Given the description of an element on the screen output the (x, y) to click on. 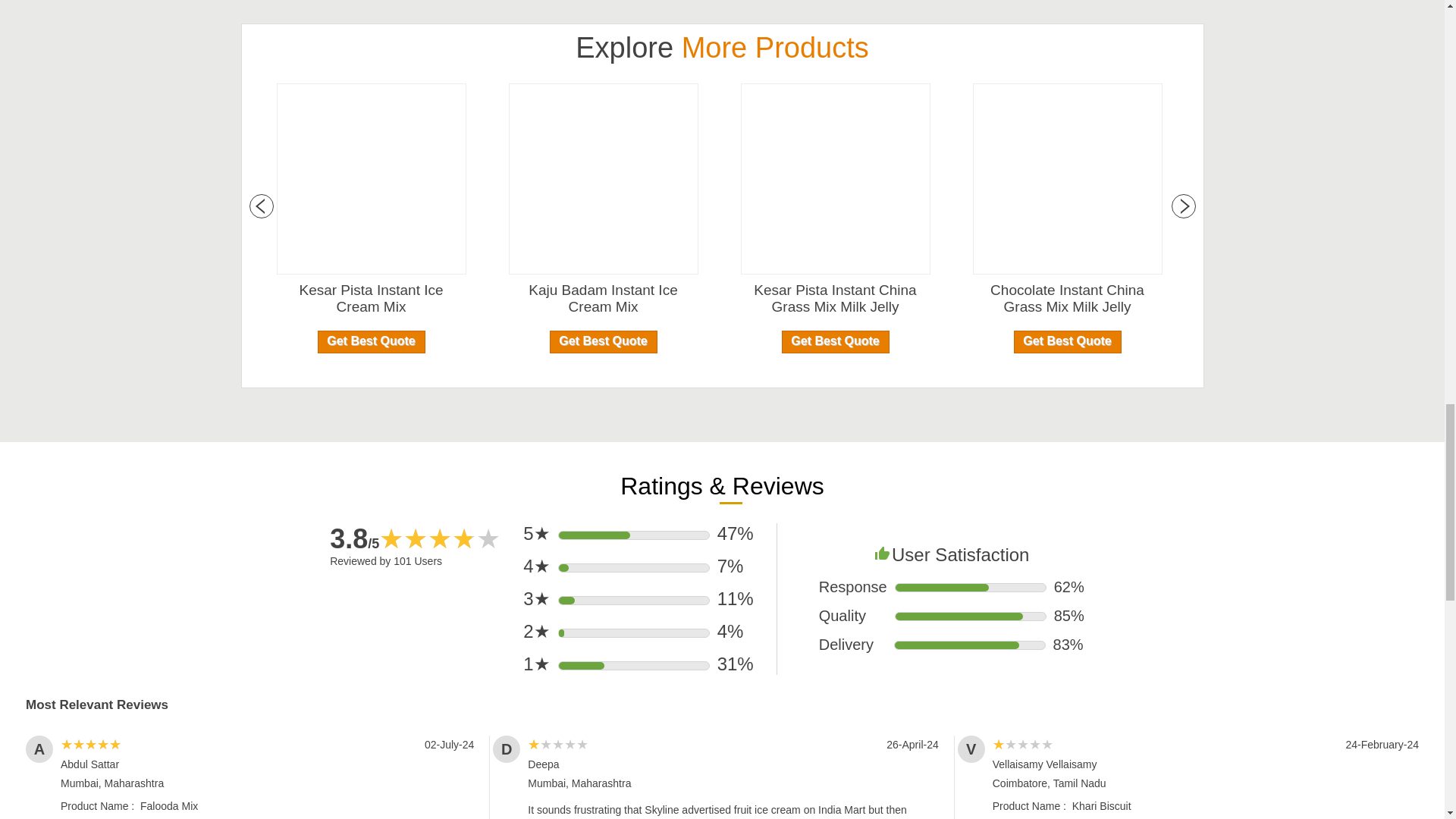
Kesar Pista Instant China Grass Mix Milk Jelly (834, 298)
Kesar Pista Instant Ice Cream Mix (370, 298)
Chocolate Instant China Grass Mix Milk Jelly (1066, 298)
Kaju Badam Instant Ice Cream Mix (602, 298)
3.8 out of 5 Votes (354, 538)
